Given the description of an element on the screen output the (x, y) to click on. 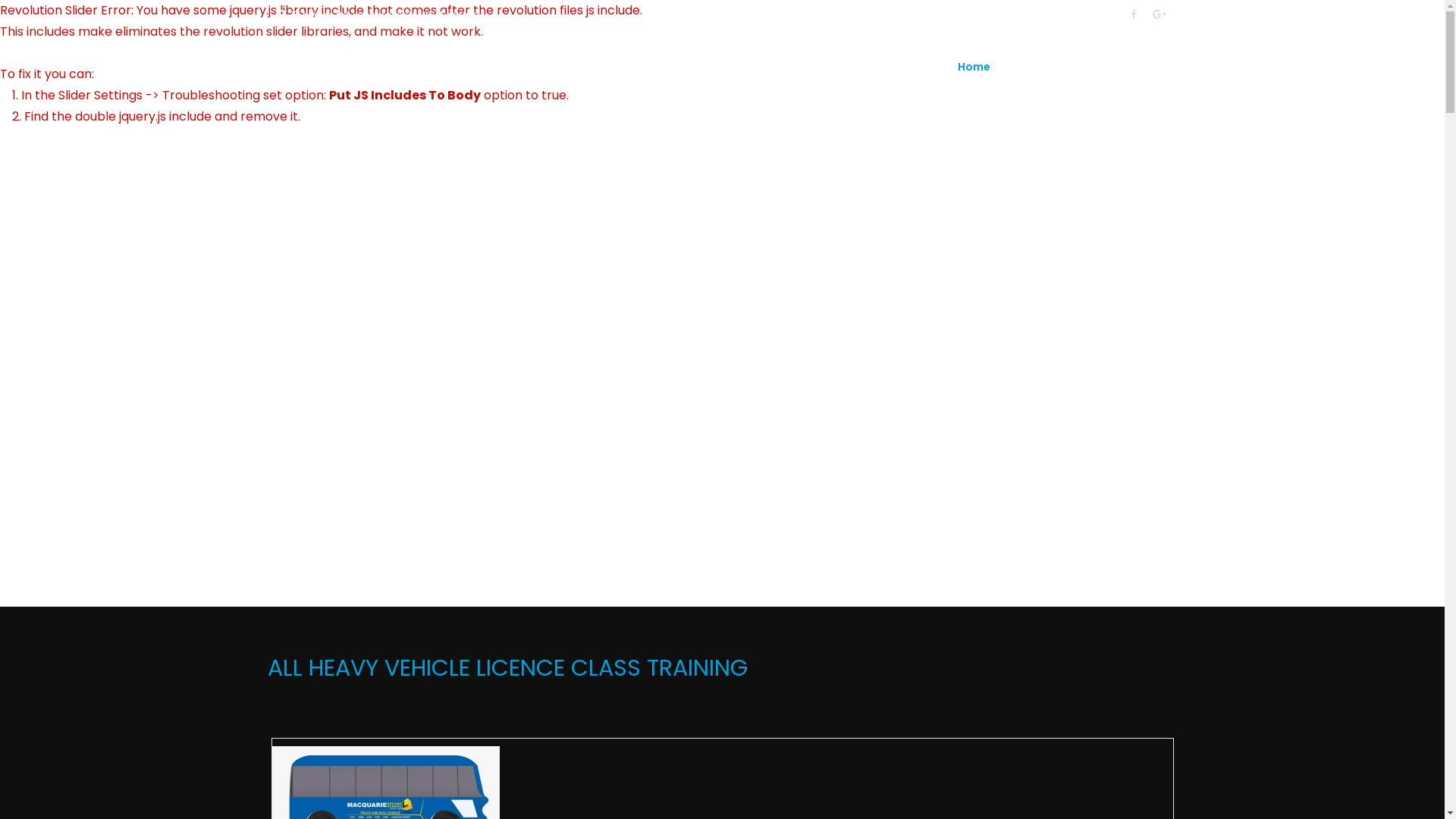
Licence Element type: text (1050, 66)
Google+ Element type: hover (1159, 13)
51 Nelson Rd, Yennora NSW 2161, Australia Element type: text (385, 14)
ALL HEAVY VEHICLE LICENCE CLASS TRAINING Element type: text (721, 687)
Contact Us Element type: text (1119, 66)
Home Element type: text (985, 66)
Facebook Element type: hover (1140, 13)
